Given the description of an element on the screen output the (x, y) to click on. 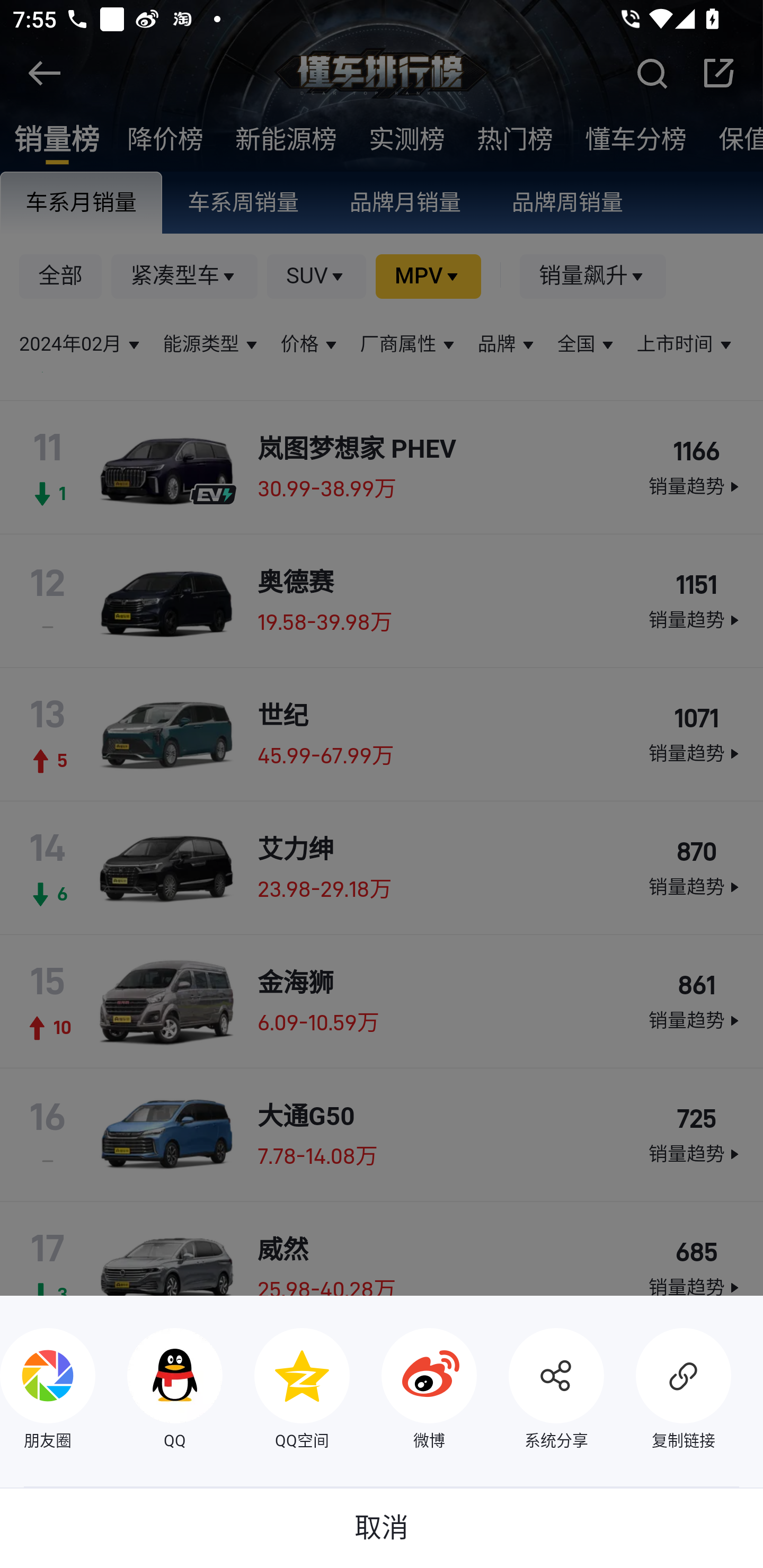
朋友圈 (47, 1390)
QQ (158, 1390)
QQ空间 (285, 1390)
微博 (412, 1390)
系统分享 (540, 1390)
复制链接 (667, 1390)
取消 (381, 1528)
